Given the description of an element on the screen output the (x, y) to click on. 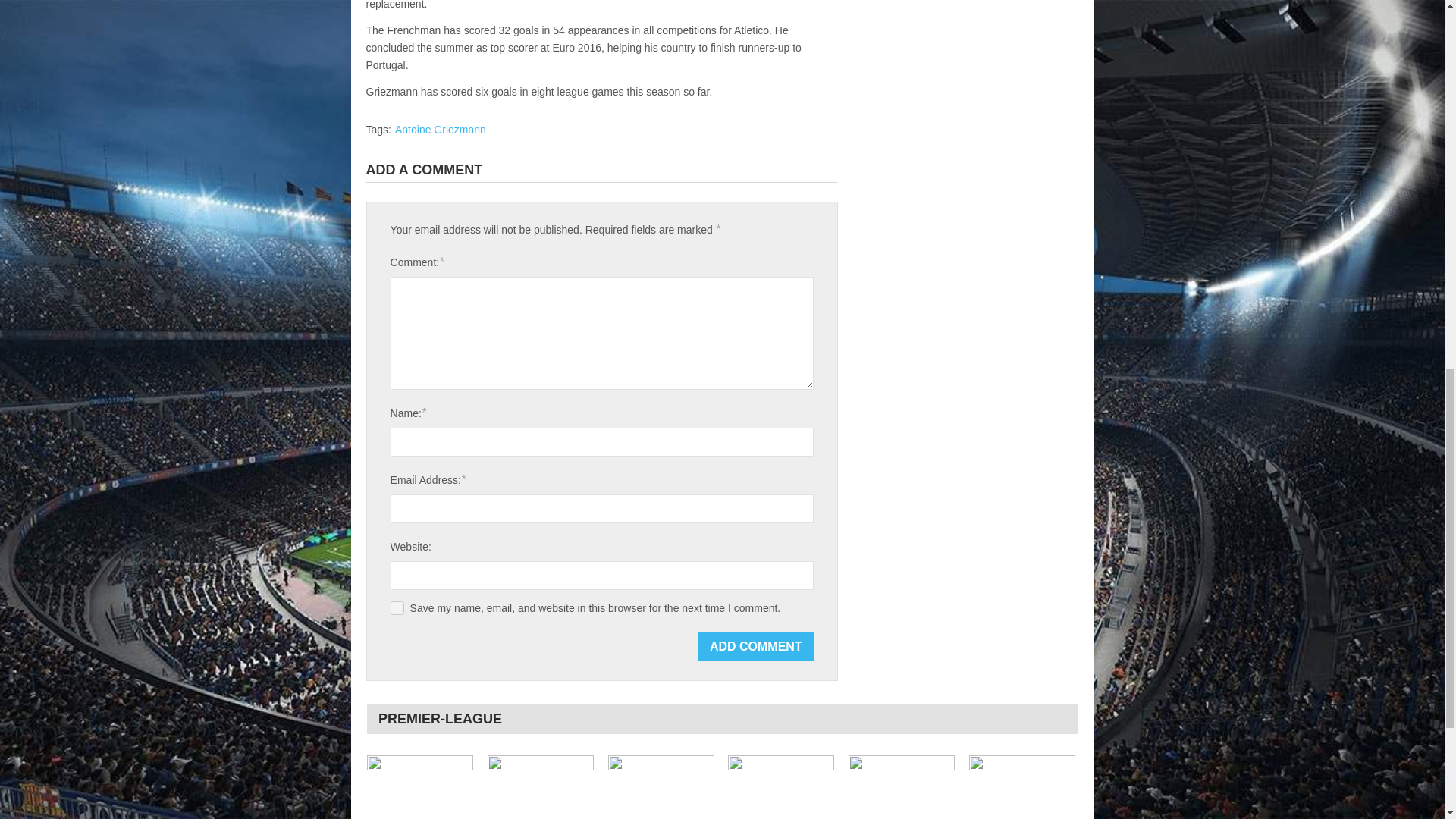
Arsenal keen on signing Leroy Sane (540, 787)
ARSENAL KEEN ON SIGNING LEROY SANE (540, 787)
Newcastle United renew interest in Malick Thiaw (419, 787)
Add Comment (755, 645)
Add Comment (755, 645)
LIVERPOOL SET SIGHTS ON FEDERICO CHIESA (901, 787)
DOMINIC CALVERT-LEWIN TARGETED BY WEST HAM UNITED (781, 787)
TOTTENHAM TO STEP UP EFFORTS FOR CONOR GALLAGHER SIGNING (661, 787)
NEWCASTLE UNITED RENEW INTEREST IN MALICK THIAW (419, 787)
yes (397, 608)
Antoine Griezmann (440, 129)
